Given the description of an element on the screen output the (x, y) to click on. 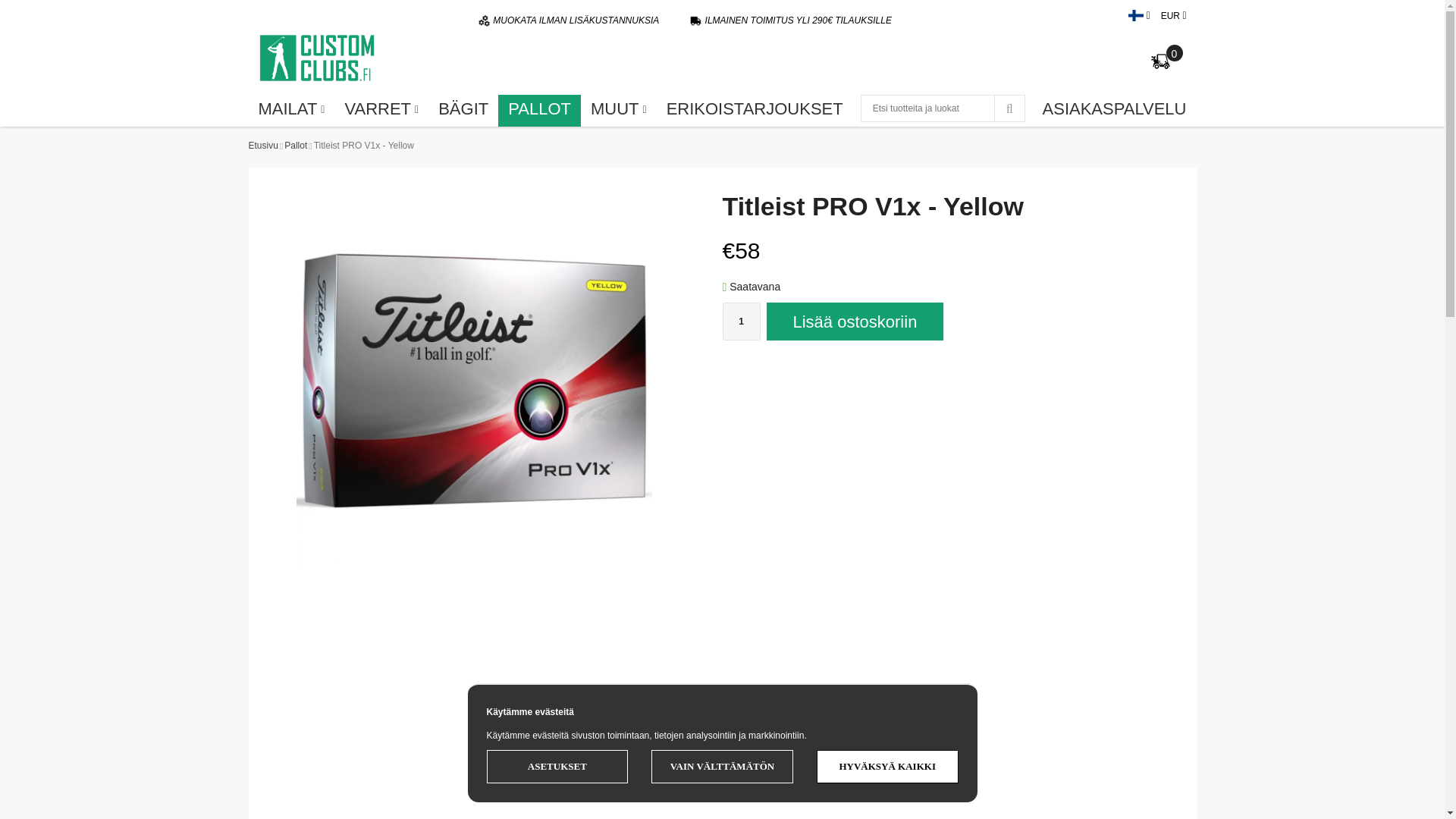
MUUT (618, 107)
Pallot (295, 145)
1 (741, 321)
MAILAT (291, 107)
VARRET (381, 107)
PALLOT (538, 107)
